Given the description of an element on the screen output the (x, y) to click on. 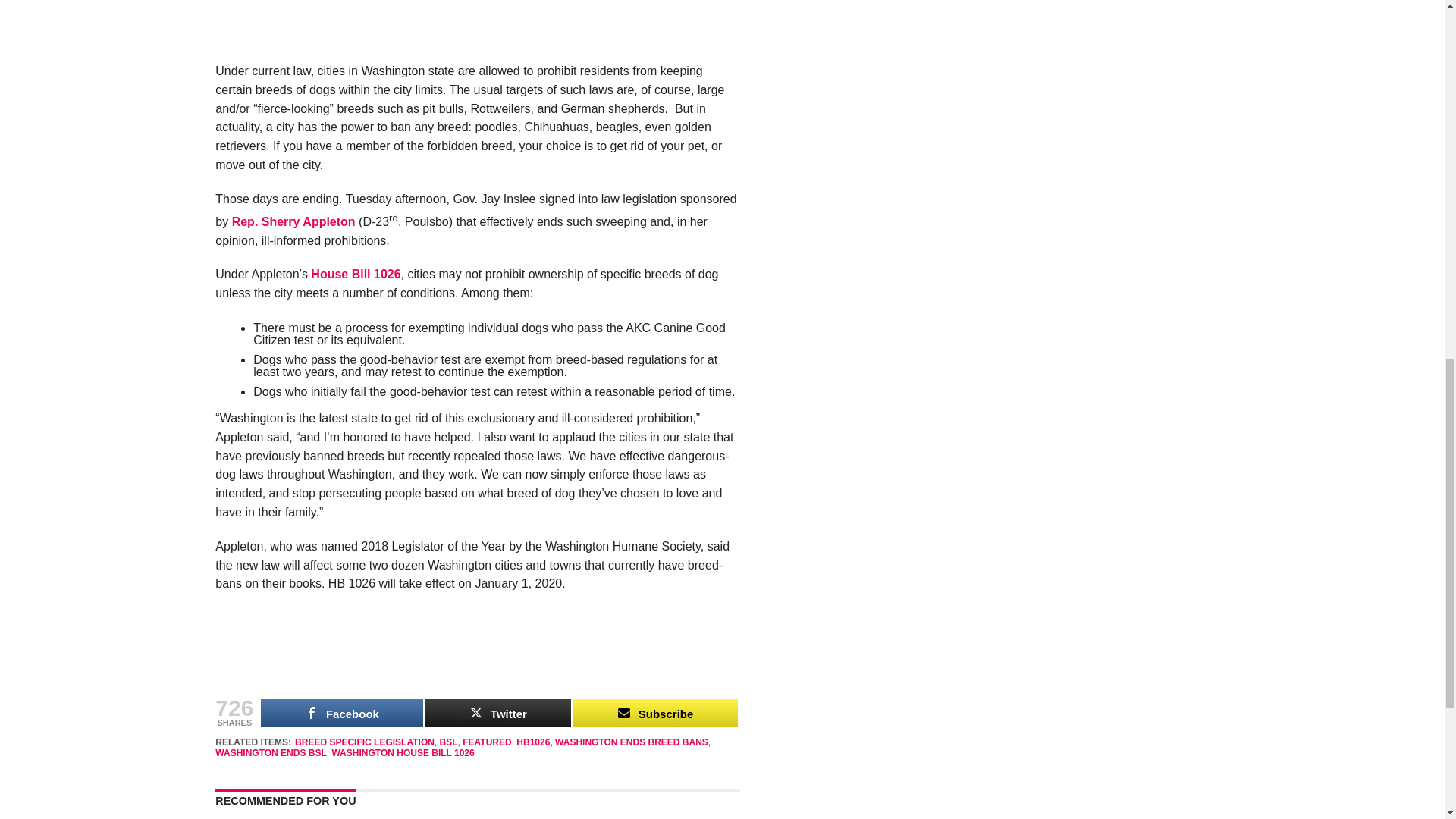
New Washington Law Will End Breed-Specific Bans 4 (477, 656)
New Washington Law Will End Breed-Specific Bans 3 (477, 31)
